Given the description of an element on the screen output the (x, y) to click on. 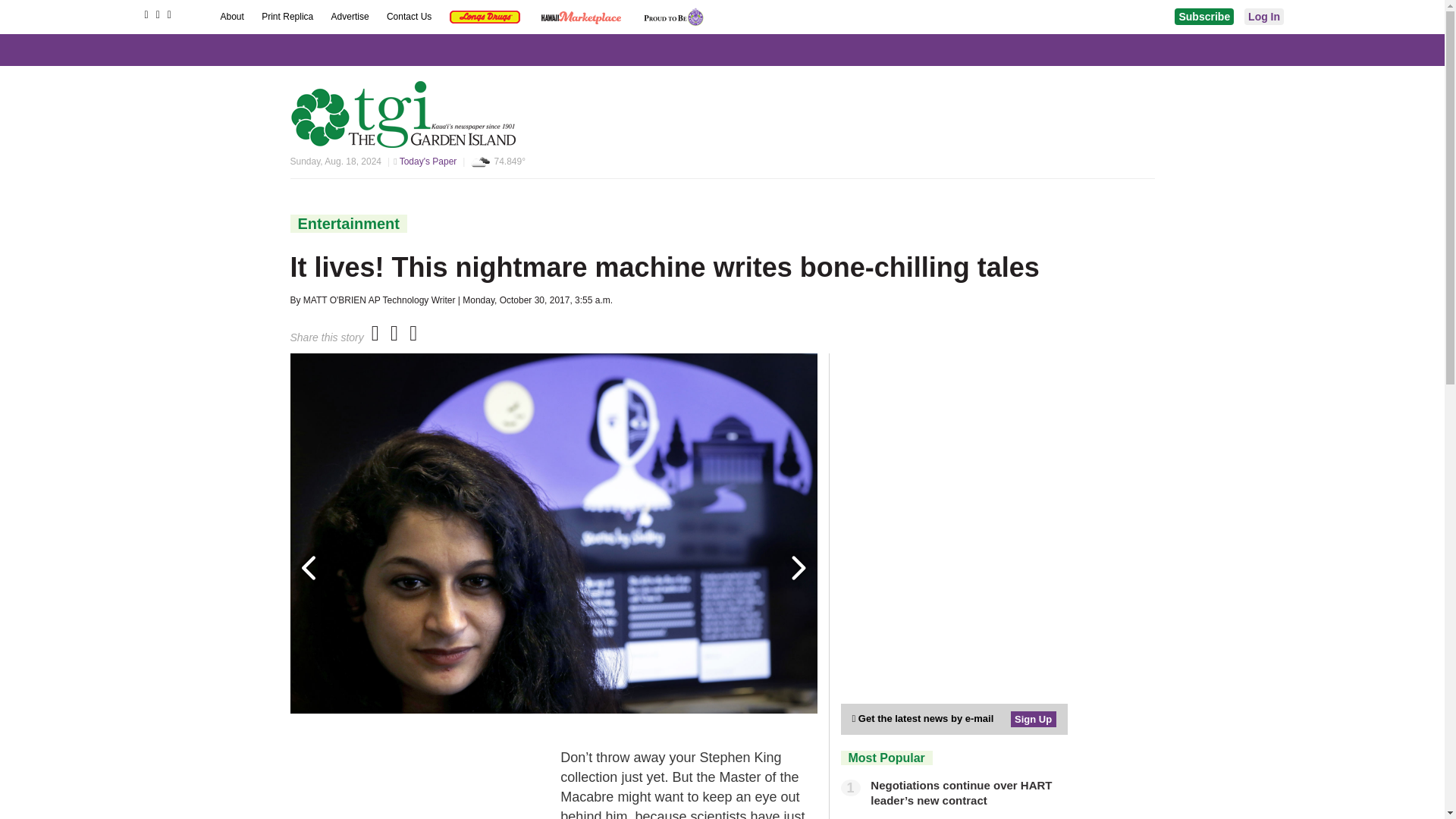
Contact Us (410, 16)
Advertise (351, 16)
About (232, 16)
Subscribe (1203, 16)
Log In (1264, 16)
Print Replica (288, 16)
